Given the description of an element on the screen output the (x, y) to click on. 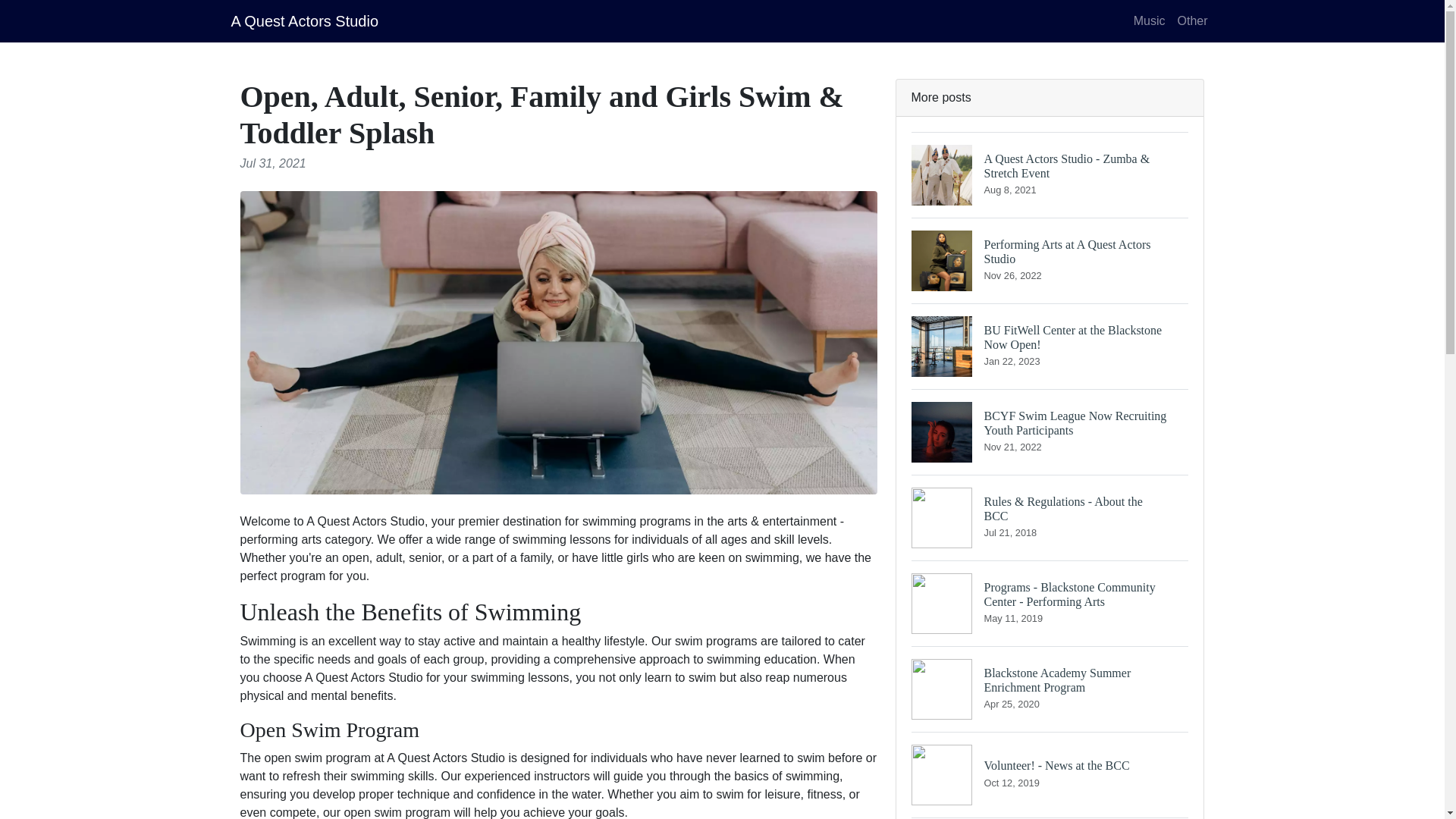
A Quest Actors Studio (1050, 689)
Other (1050, 260)
Music (304, 20)
